Given the description of an element on the screen output the (x, y) to click on. 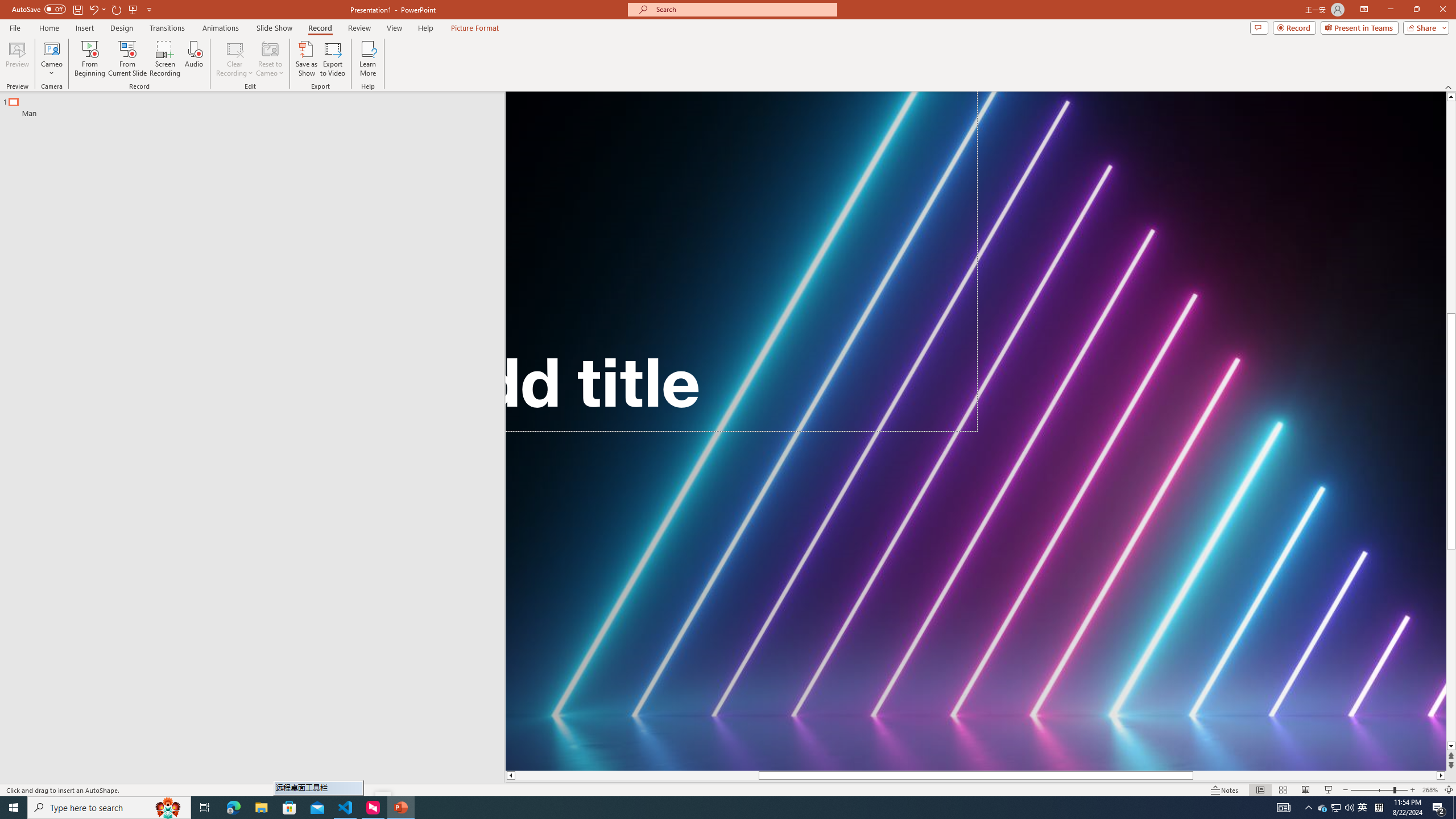
Save as Show (306, 58)
From Current Slide... (127, 58)
Zoom 268% (1430, 790)
Picture Format (475, 28)
